Given the description of an element on the screen output the (x, y) to click on. 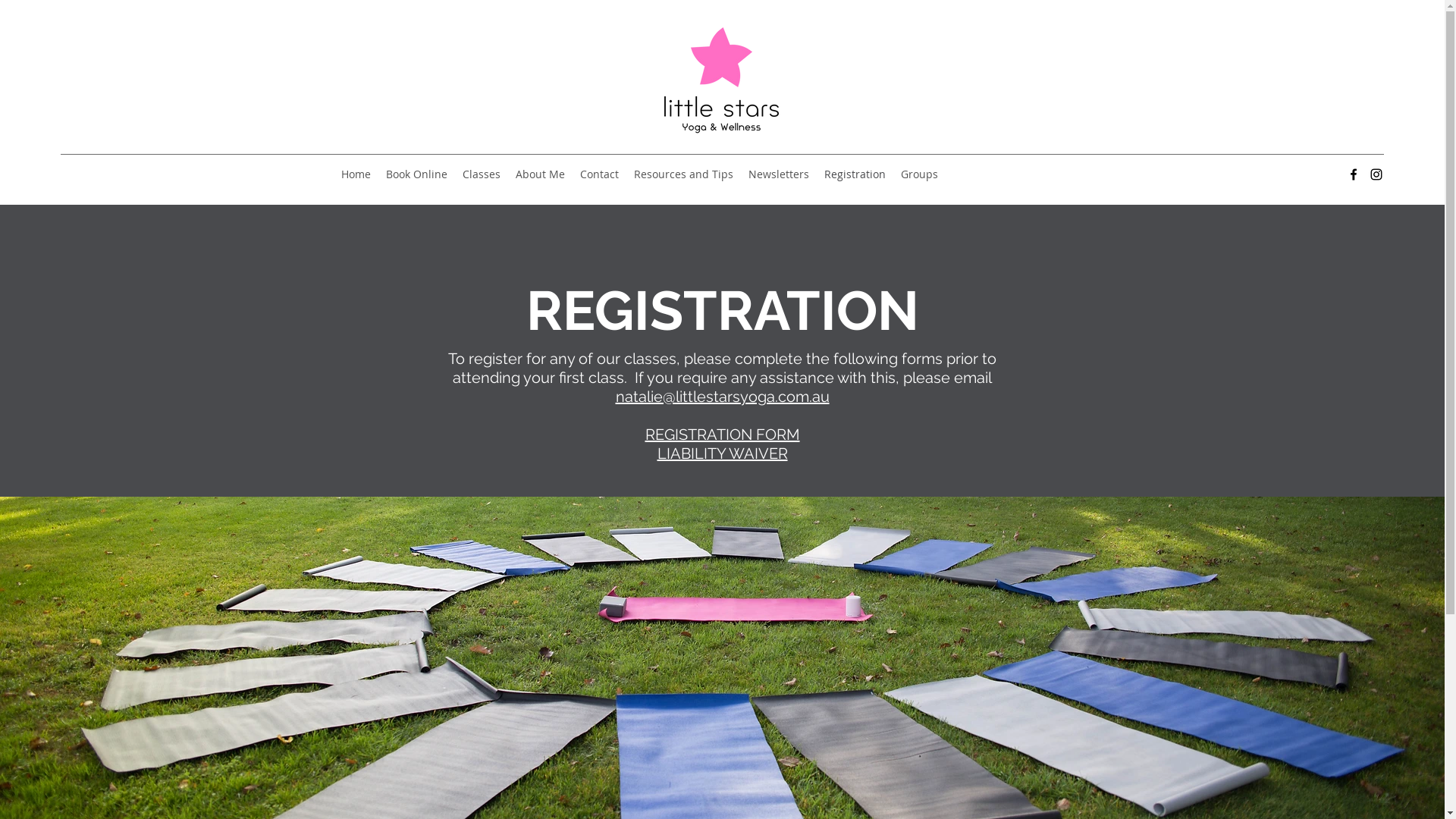
REGISTRATION FORM Element type: text (721, 434)
Contact Element type: text (599, 174)
About Me Element type: text (540, 174)
Classes Element type: text (481, 174)
Book Online Element type: text (416, 174)
natalie@littlestarsyoga.com.au Element type: text (722, 396)
Groups Element type: text (919, 174)
Registration Element type: text (854, 174)
Home Element type: text (355, 174)
Resources and Tips Element type: text (683, 174)
Newsletters Element type: text (778, 174)
LIABILITY WAIVER Element type: text (721, 453)
